Given the description of an element on the screen output the (x, y) to click on. 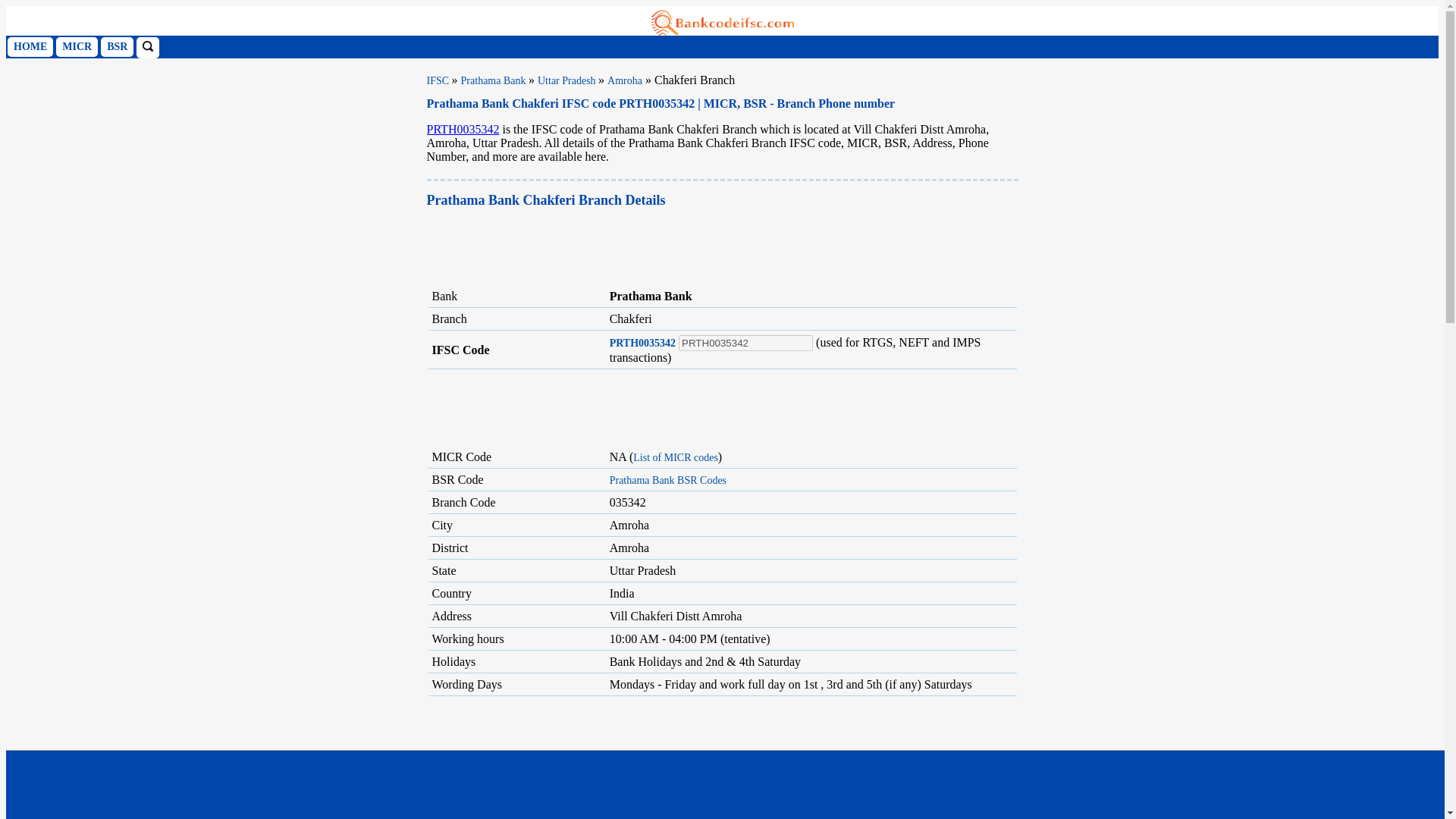
BSR (116, 46)
HOME (29, 46)
MICR (76, 46)
PRTH0035342 (642, 342)
Prathama Bank (494, 80)
Advertisement (721, 757)
PRTH0035342 (745, 342)
IFSC (438, 80)
Uttar Pradesh (567, 80)
Amroha (624, 80)
